Given the description of an element on the screen output the (x, y) to click on. 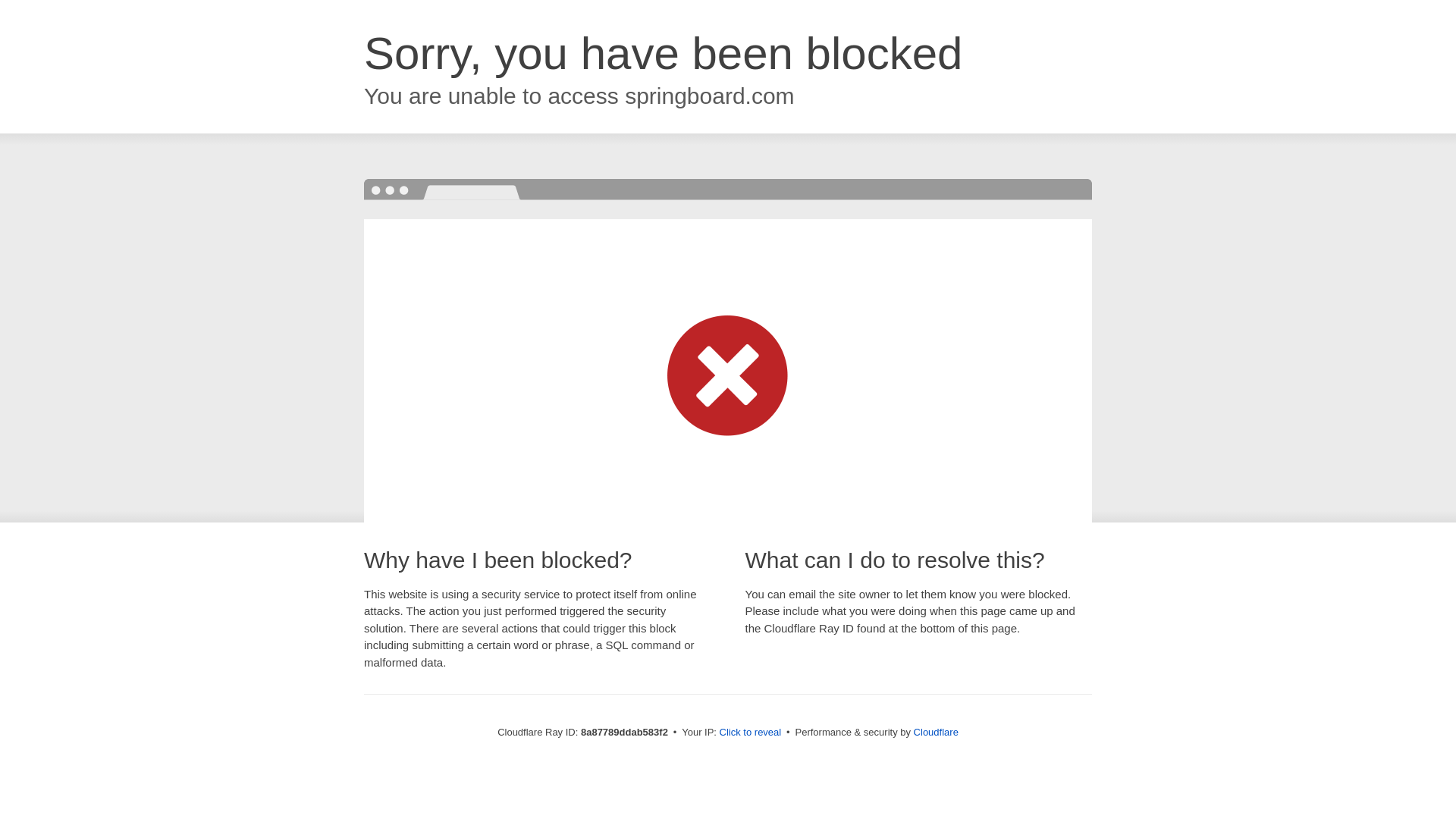
Cloudflare (936, 731)
Click to reveal (750, 732)
